Given the description of an element on the screen output the (x, y) to click on. 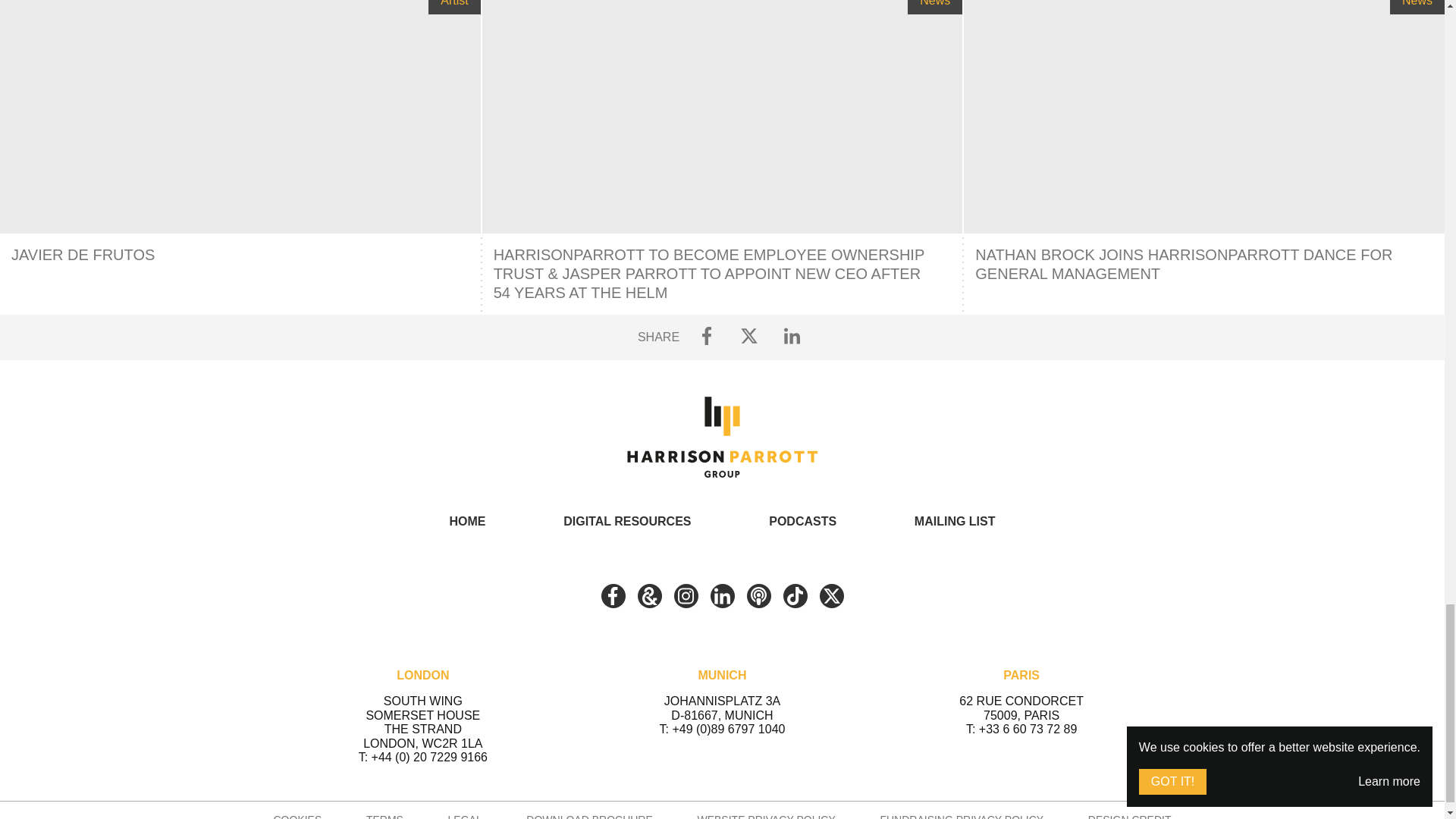
LEGAL (464, 816)
Podcast (757, 595)
COOKIES (297, 816)
TikTok (794, 595)
DOWNLOAD BROCHURE (588, 816)
INSTAGRAM (684, 595)
Linkedin (721, 595)
PODCASTS (801, 521)
MAILING LIST (954, 521)
TWITTER (830, 595)
